Given the description of an element on the screen output the (x, y) to click on. 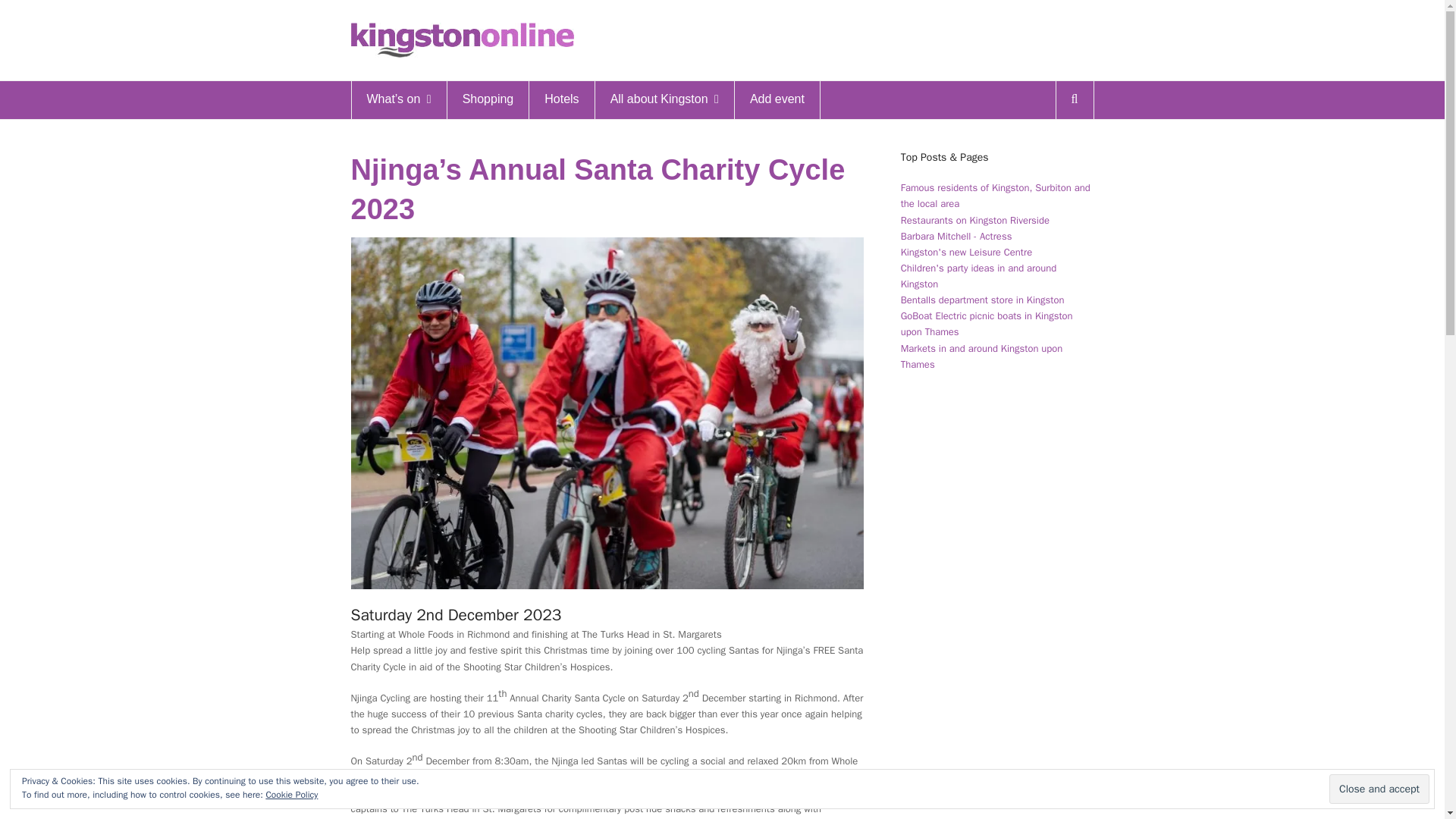
Shopping (487, 99)
Close and accept (1379, 788)
Kingston's new Leisure Centre (966, 251)
Famous residents of Kingston, Surbiton and the local area (995, 194)
Children's party ideas in and around Kingston (979, 275)
Add event (777, 99)
All about Kingston (664, 99)
Hotels (561, 99)
Restaurants on Kingston Riverside (975, 219)
Bentalls department store in Kingston (982, 299)
